Given the description of an element on the screen output the (x, y) to click on. 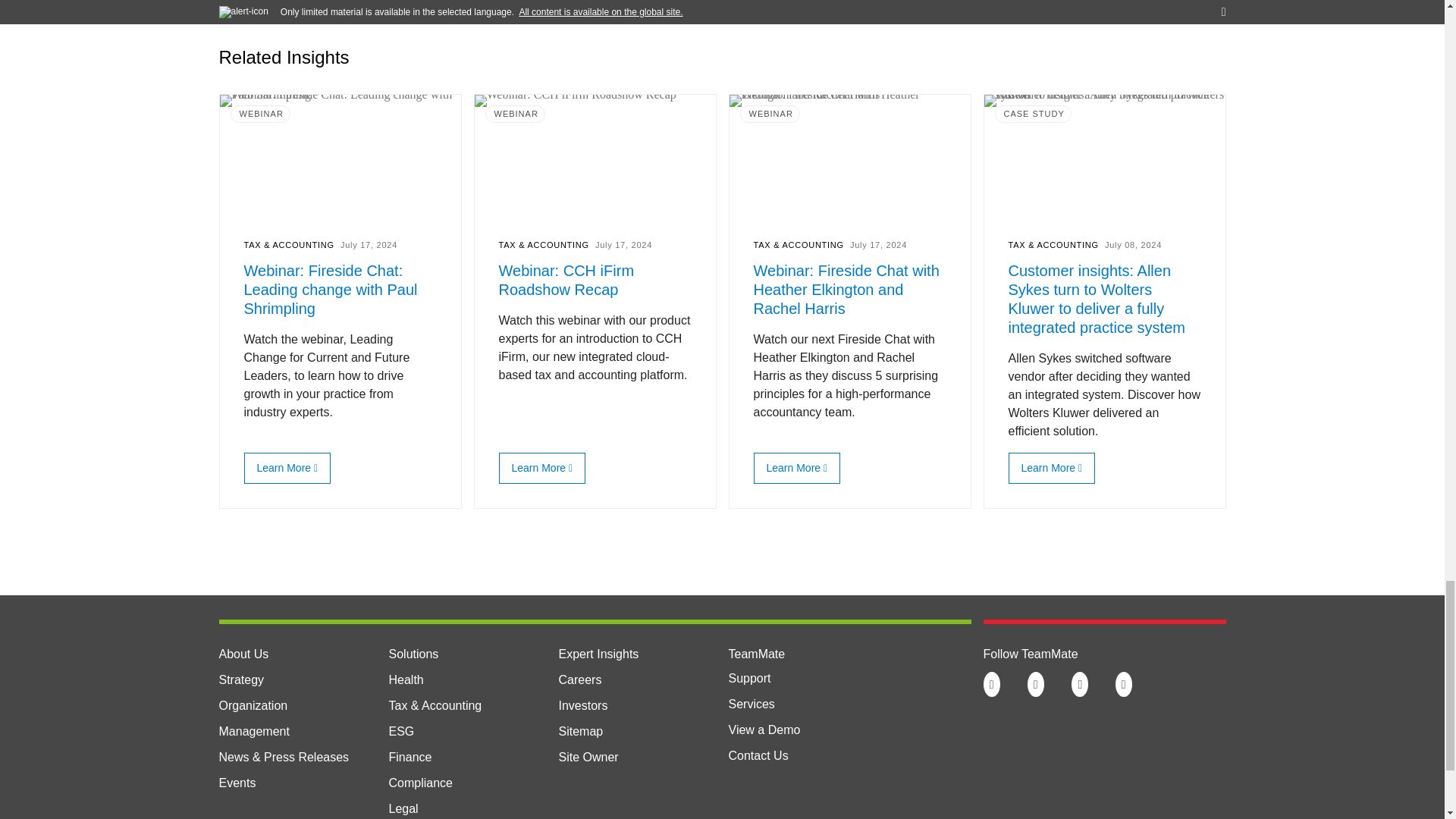
Site Owner (587, 757)
ESG (400, 730)
Webinar: Fireside Chat: Leading change with Paul Shrimpling (283, 467)
Webinar: CCH iFirm Roadshow Recap (538, 467)
